Given the description of an element on the screen output the (x, y) to click on. 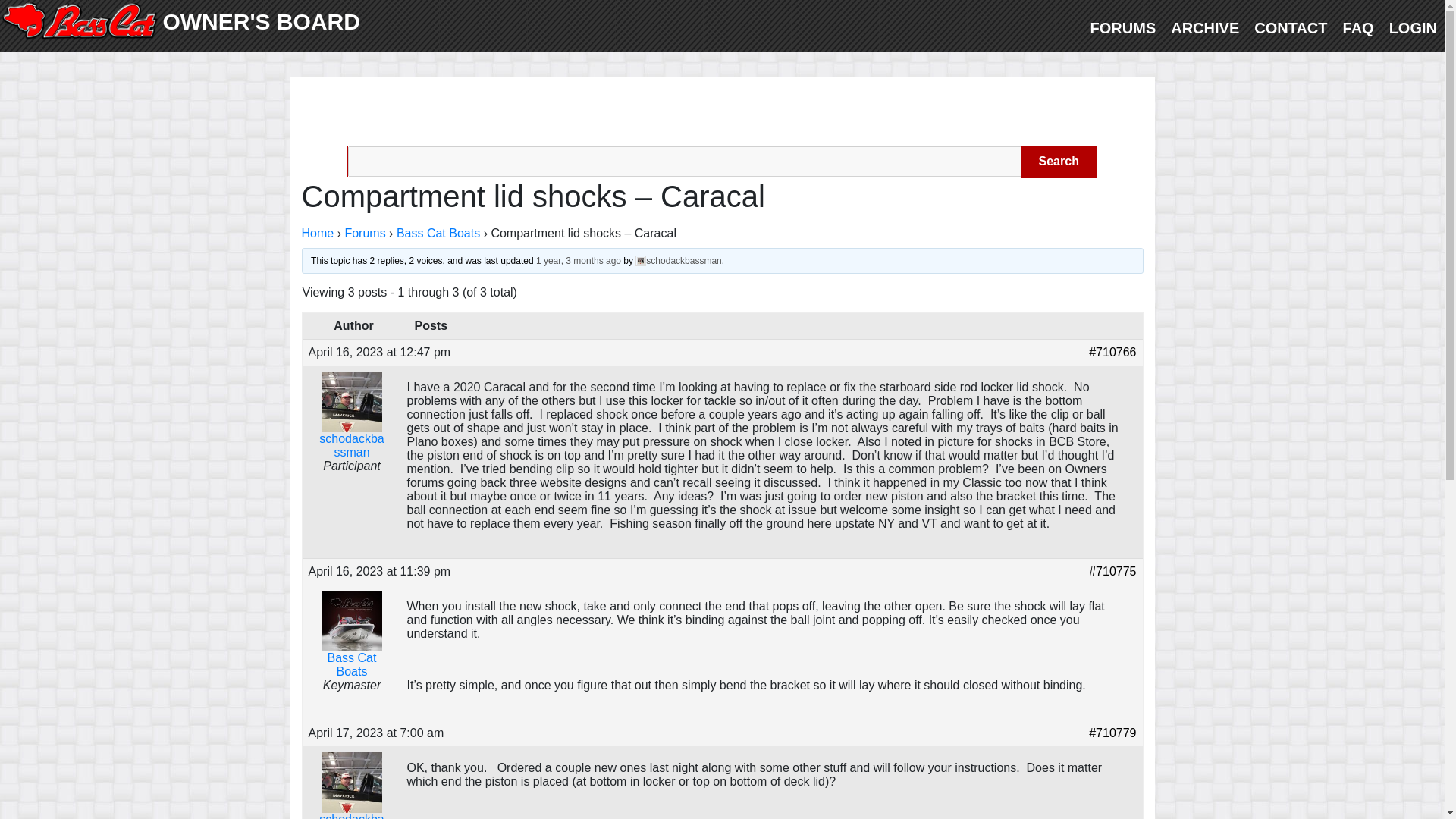
View schodackbassman's profile (350, 797)
ARCHIVE (1204, 27)
View Bass Cat Boats's profile (350, 646)
schodackbassman (350, 797)
FORUMS (1123, 27)
Search (1058, 161)
Search (1058, 161)
Bass Cat Boats (350, 646)
View schodackbassman's profile (677, 259)
CONTACT (1290, 27)
schodackbassman (350, 427)
schodackbassman (677, 259)
Forums (364, 232)
1 year, 3 months ago (578, 259)
Bass Cat Boats (438, 232)
